Given the description of an element on the screen output the (x, y) to click on. 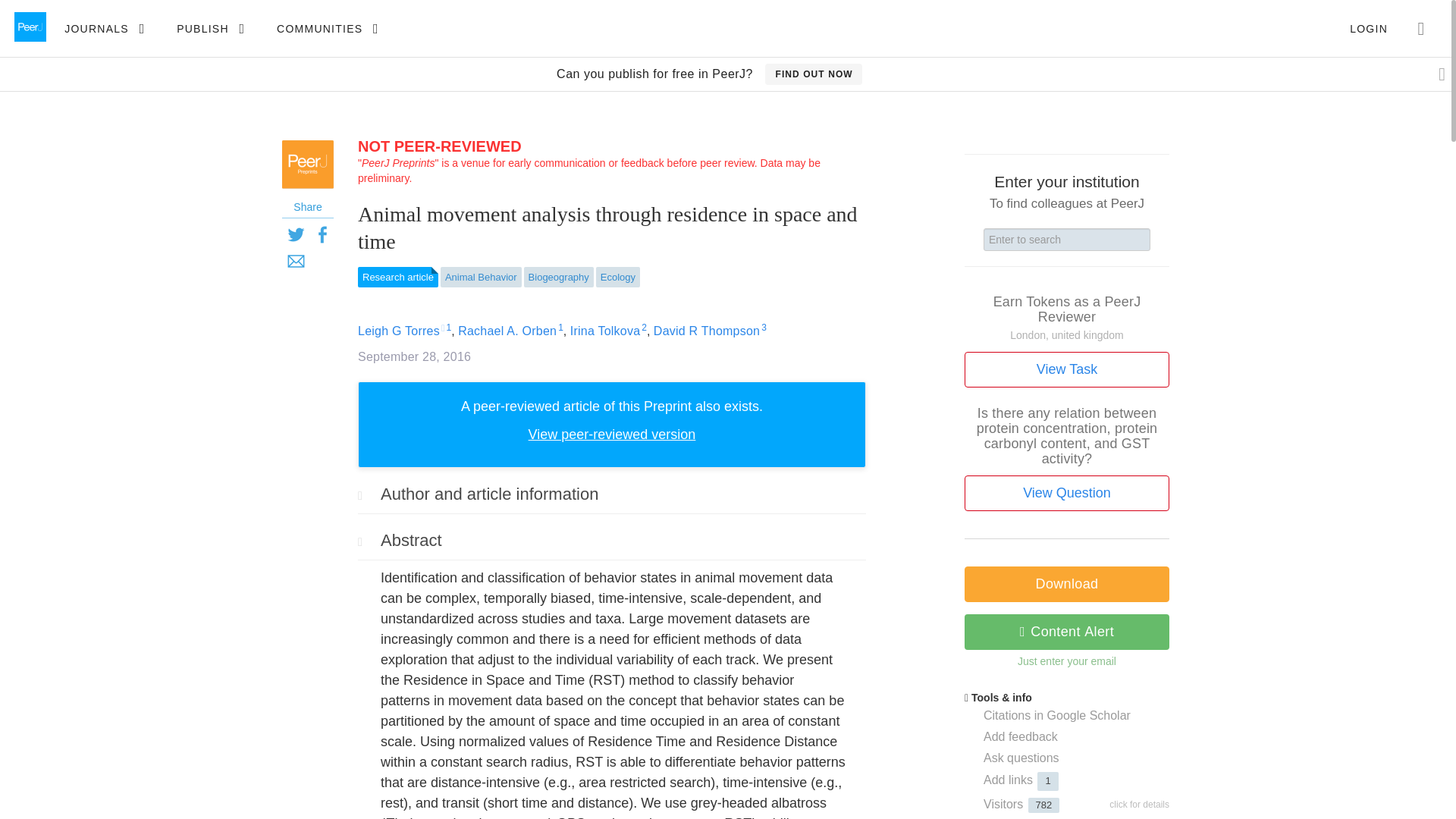
View peer-reviewed version (611, 434)
Leigh G Torres (398, 330)
David R Thompson (706, 330)
Biogeography (559, 276)
Irina Tolkova (605, 330)
Animal Behavior (481, 276)
Research article (398, 276)
Rachael A. Orben (507, 330)
Facebook (321, 234)
Email (295, 260)
Ecology (617, 276)
X (295, 234)
